Given the description of an element on the screen output the (x, y) to click on. 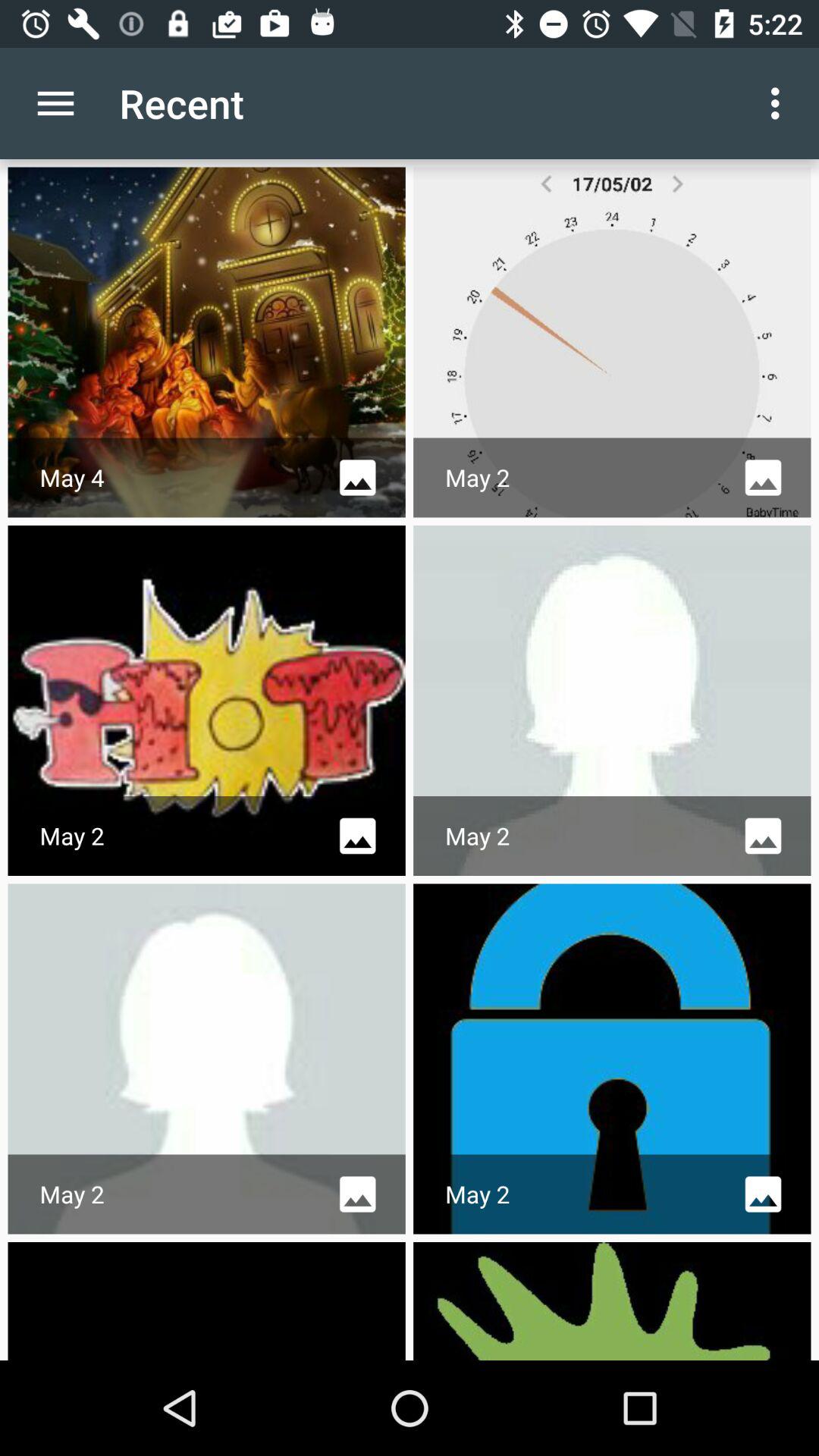
select the 6th image on the web page (612, 1058)
